Given the description of an element on the screen output the (x, y) to click on. 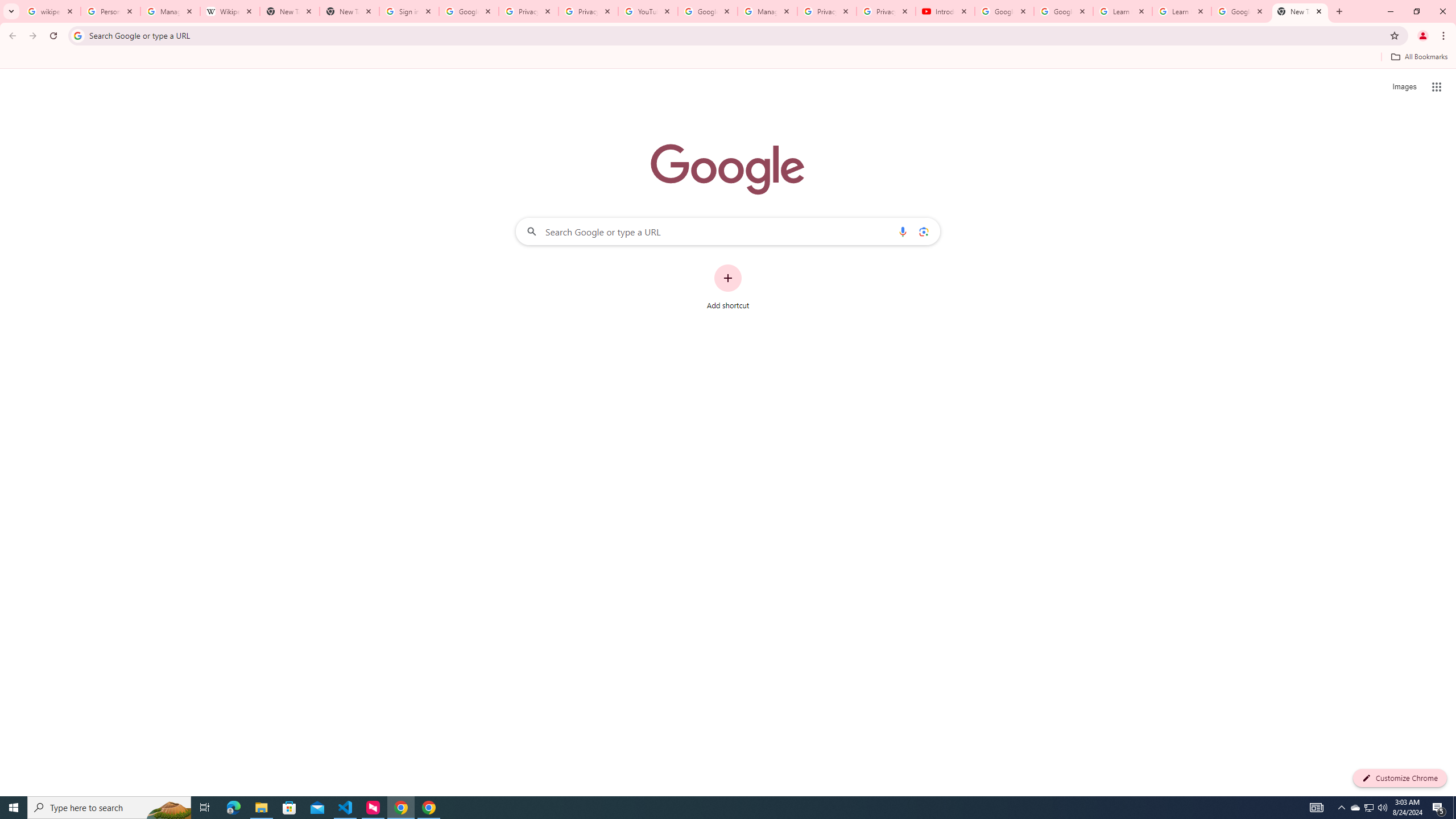
Google Account Help (1004, 11)
New Tab (349, 11)
All Bookmarks (1418, 56)
Google Account (1241, 11)
Google apps (1436, 86)
Manage your Location History - Google Search Help (170, 11)
Back (10, 35)
Customize Chrome (1399, 778)
Search Google or type a URL (727, 230)
Minimize (1390, 11)
New Tab (1300, 11)
Wikipedia:Edit requests - Wikipedia (229, 11)
